Given the description of an element on the screen output the (x, y) to click on. 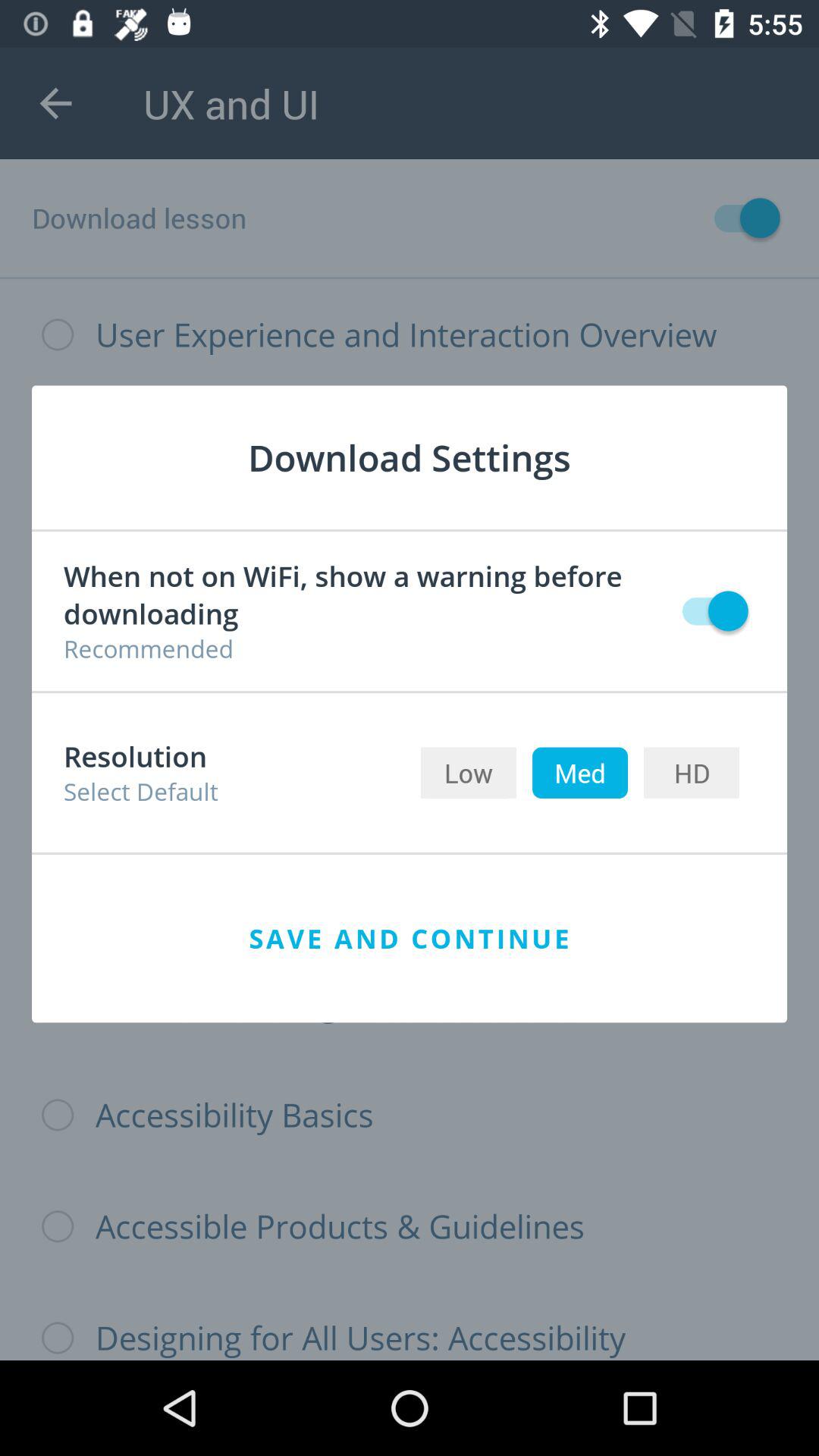
toggle wifi warning (707, 611)
